Given the description of an element on the screen output the (x, y) to click on. 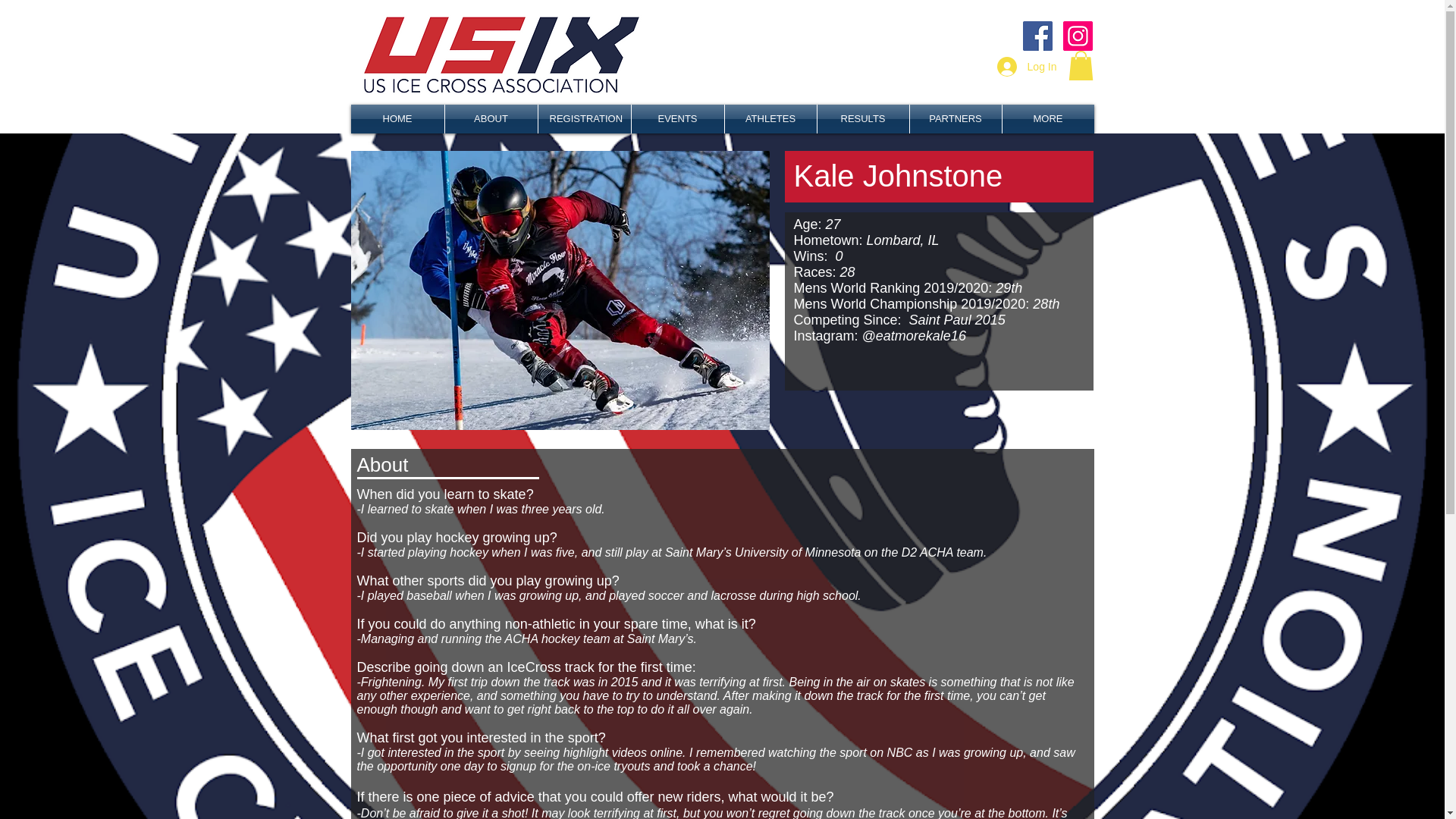
HOME (397, 118)
PARTNERS (955, 118)
MORE (1048, 118)
ABOUT (490, 118)
ATHLETES (770, 118)
REGISTRATION (584, 118)
Log In (1027, 66)
EVENTS (676, 118)
RESULTS (862, 118)
